Given the description of an element on the screen output the (x, y) to click on. 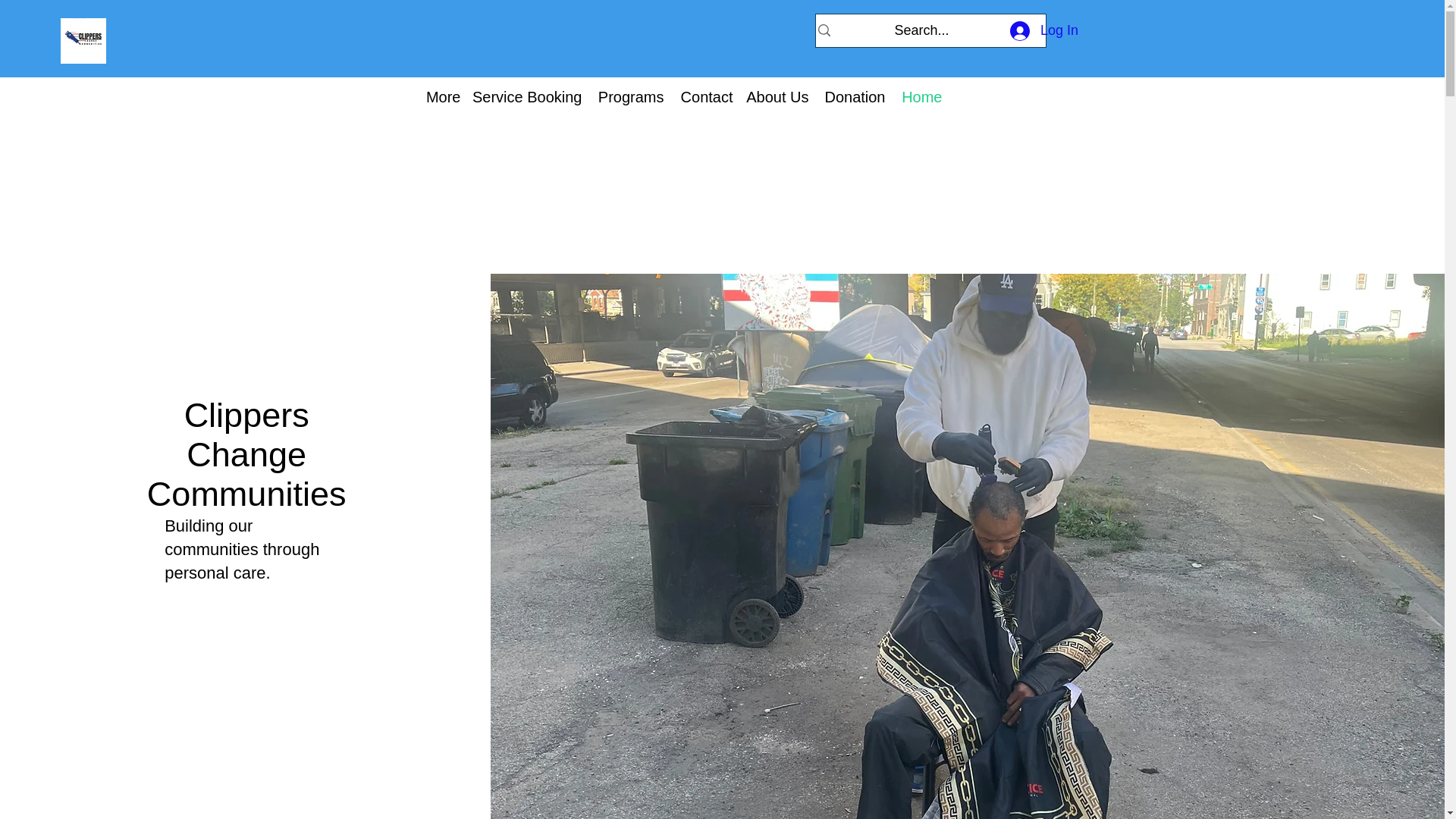
About Us (782, 96)
Home (924, 96)
Donation (858, 96)
Service Booking (531, 96)
Contact (709, 96)
Programs (633, 96)
Log In (1043, 30)
